Given the description of an element on the screen output the (x, y) to click on. 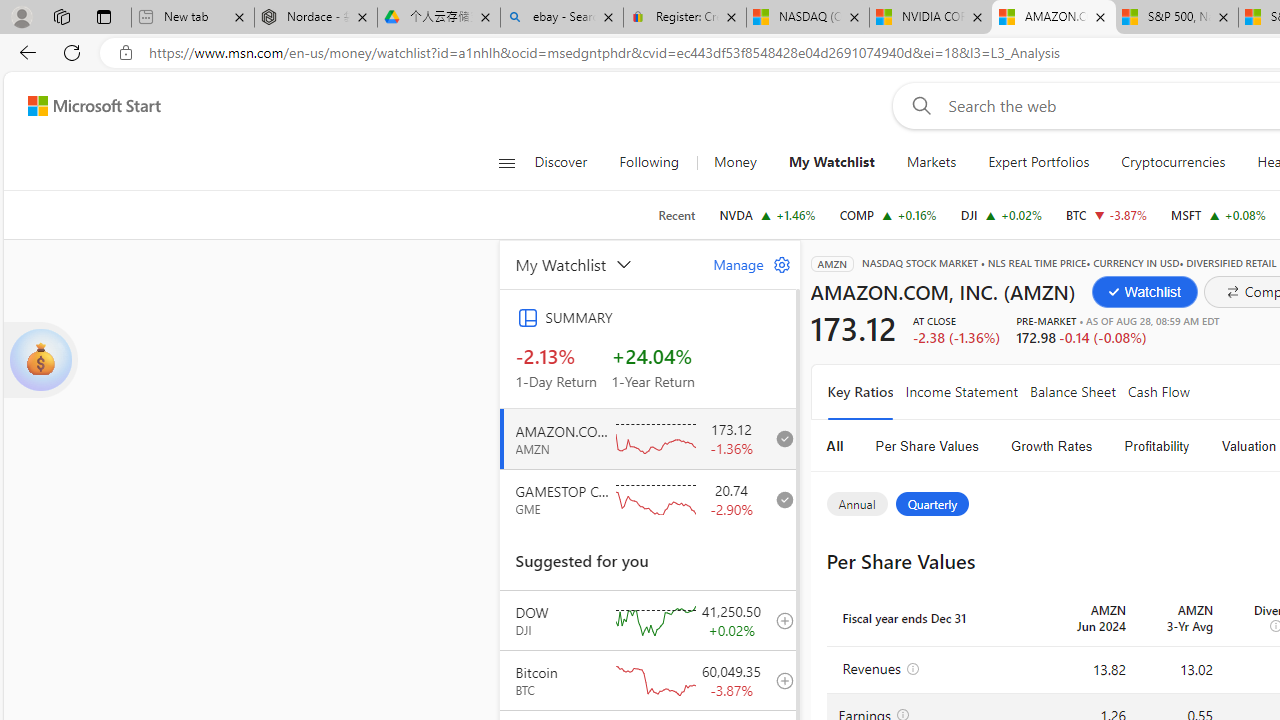
Balance Sheet (1072, 391)
Cryptocurrencies (1173, 162)
Web search (917, 105)
New tab - Sleeping (192, 17)
Watchlist (1144, 291)
My Watchlist (831, 162)
Growth Rates (1051, 445)
show card (40, 359)
Register: Create a personal eBay account (684, 17)
Open navigation menu (506, 162)
